Given the description of an element on the screen output the (x, y) to click on. 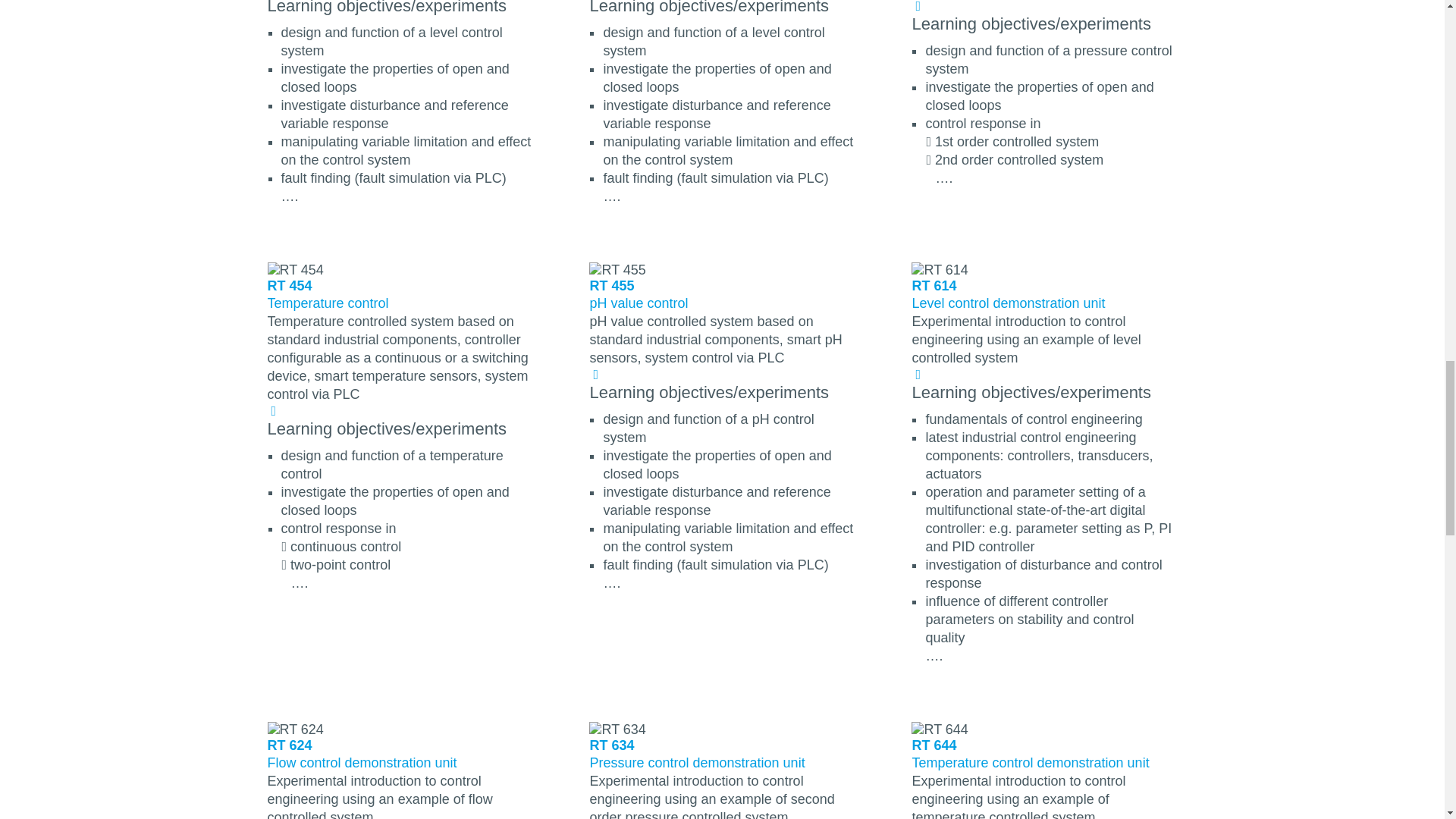
RT 644 (939, 729)
RT 624 (294, 729)
RT 634 (617, 729)
RT 454 (294, 270)
RT 614 (939, 270)
RT 455 (617, 270)
